Given the description of an element on the screen output the (x, y) to click on. 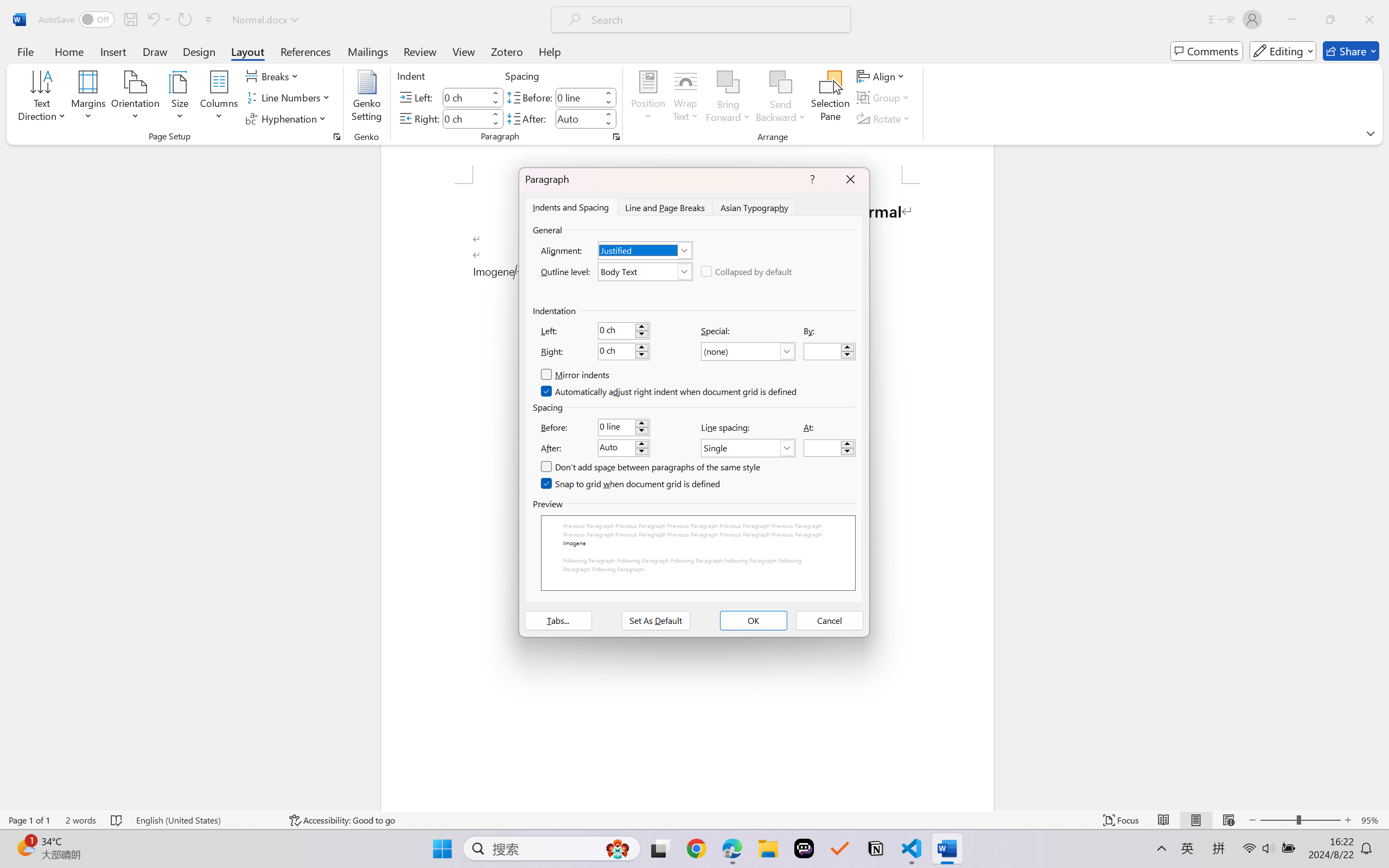
Class: MsoCommandBar (694, 819)
Before: (623, 426)
Undo Paragraph Formatting (152, 19)
At: (829, 447)
Set As Default (655, 620)
Selection Pane... (830, 97)
Indent Left (465, 96)
Line and Page Breaks (664, 206)
Google Chrome (696, 848)
Group (884, 97)
